Given the description of an element on the screen output the (x, y) to click on. 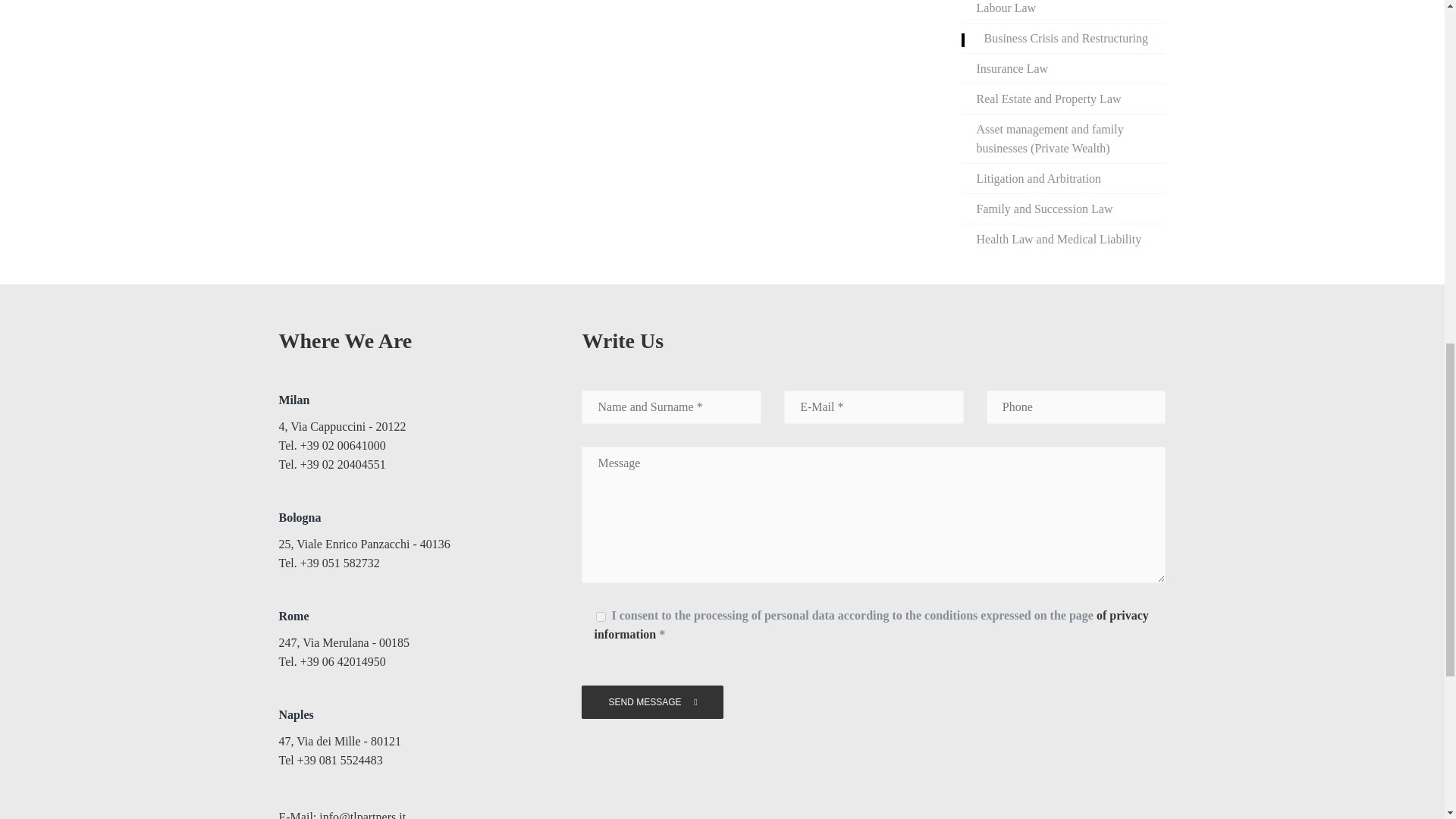
1 (600, 616)
SEND MESSAGE (651, 702)
